Given the description of an element on the screen output the (x, y) to click on. 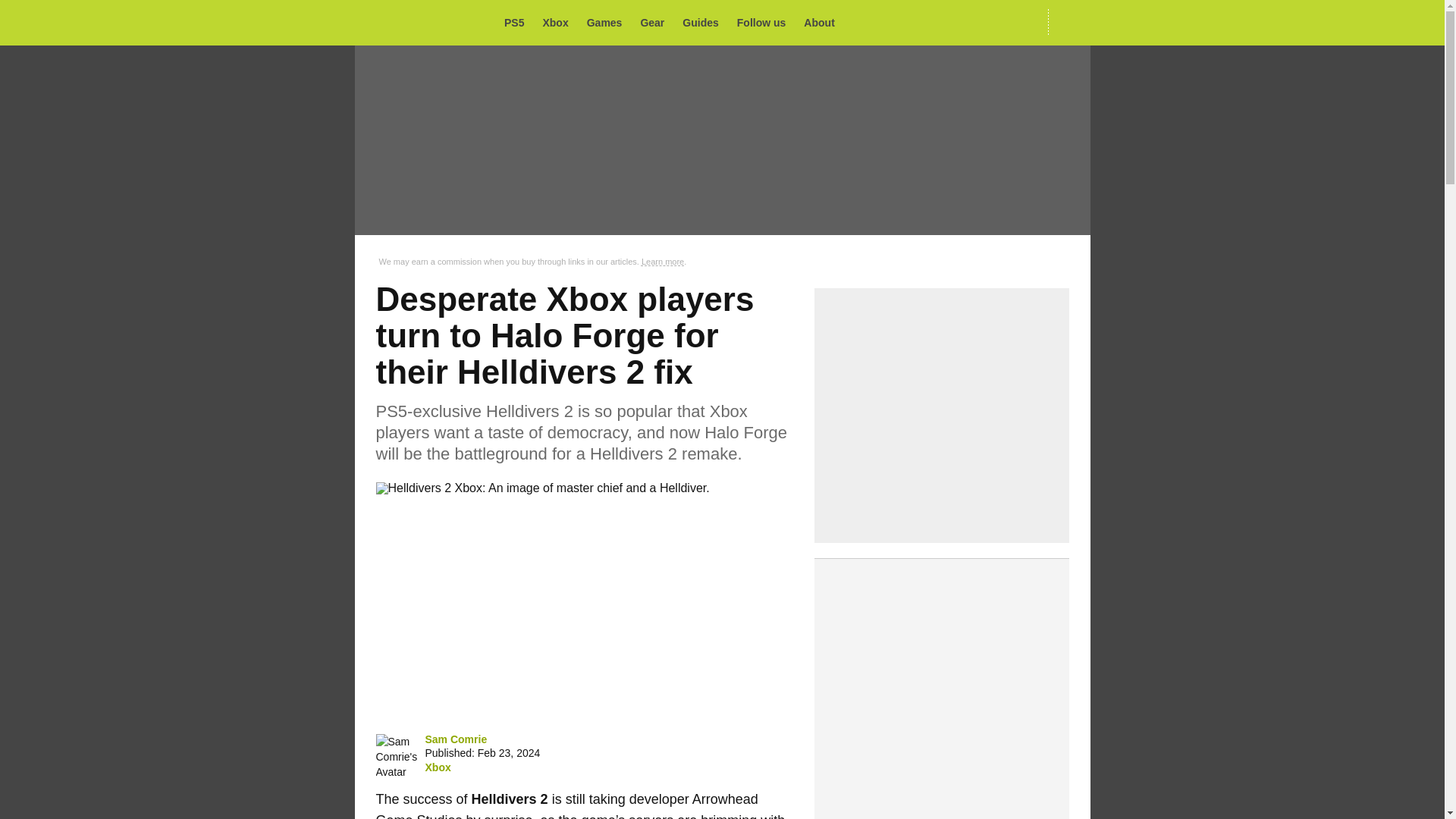
Gaming Gear (656, 22)
Network N Media (1068, 22)
Sam Comrie (396, 756)
Games (608, 22)
Sam Comrie (455, 739)
Follow The Loadout (765, 22)
Game Guides (704, 22)
About (823, 22)
Xbox (437, 767)
PS5 (517, 22)
Guides (704, 22)
Xbox Games (558, 22)
About The Loadout (823, 22)
Xbox (558, 22)
